Given the description of an element on the screen output the (x, y) to click on. 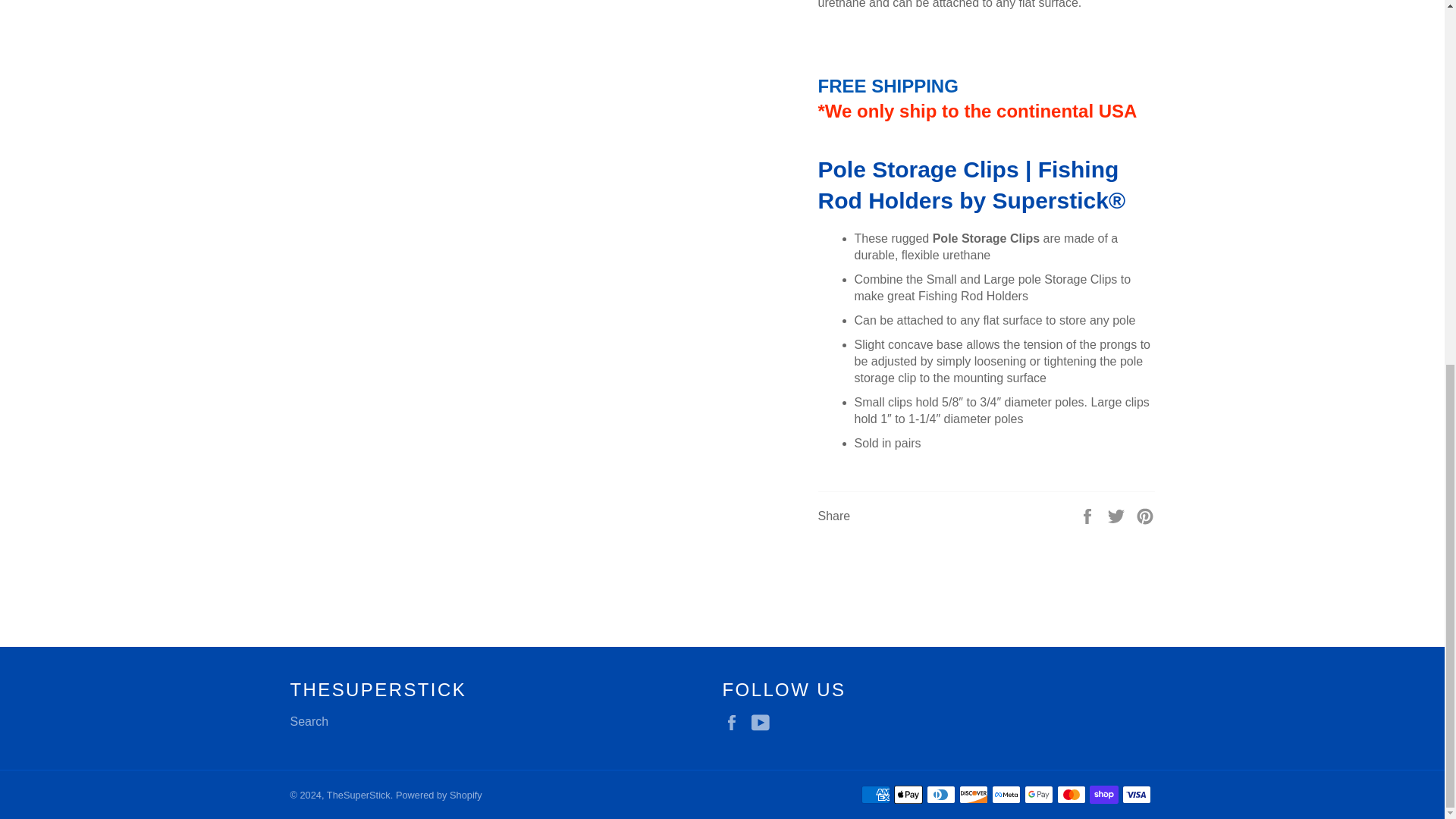
TheSuperStick on Facebook (735, 722)
Pin on Pinterest (1144, 515)
TheSuperStick on YouTube (764, 722)
Tweet on Twitter (1117, 515)
Share on Facebook (1088, 515)
